Given the description of an element on the screen output the (x, y) to click on. 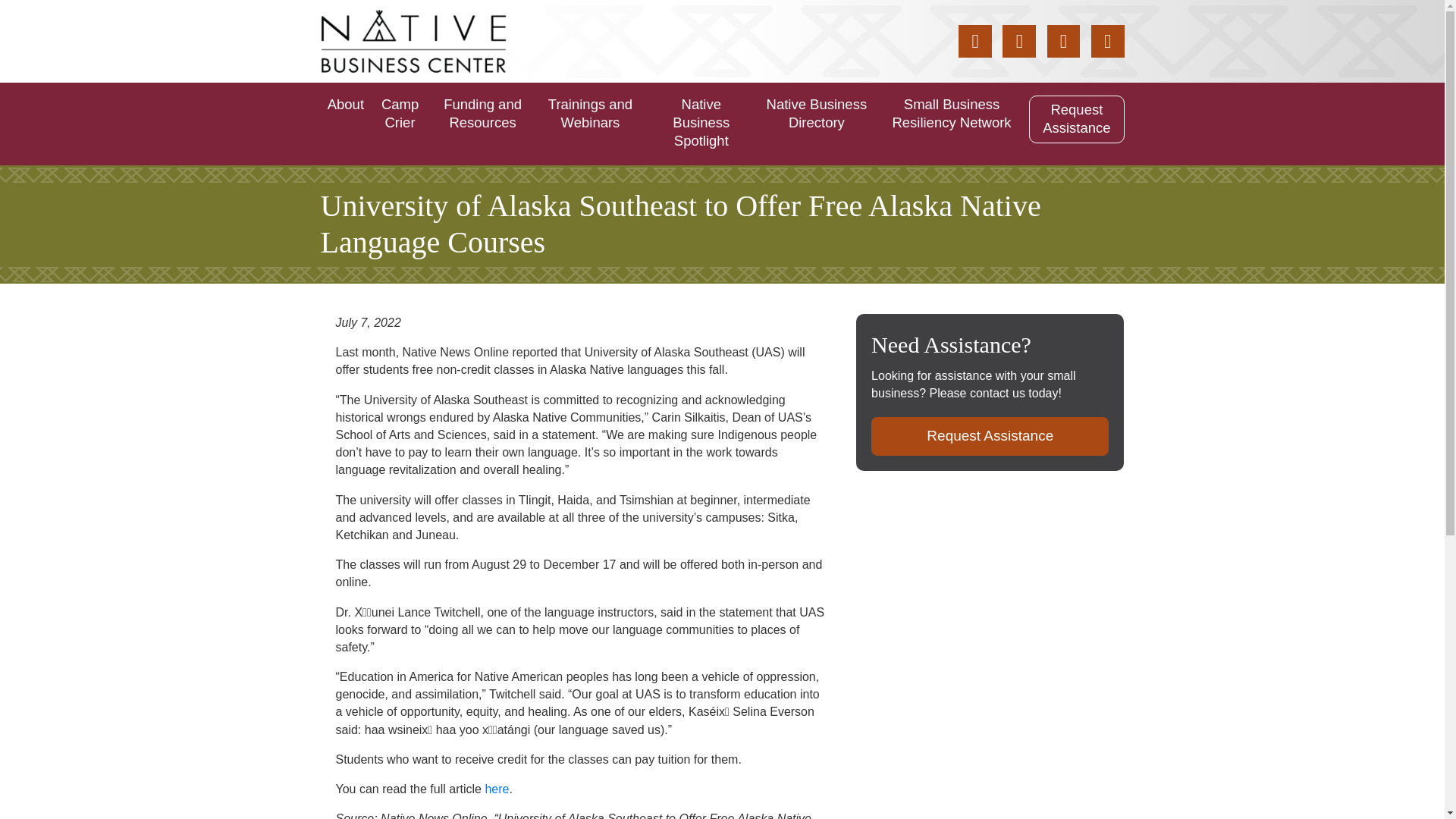
Request Assistance (989, 435)
Native Business Directory (816, 113)
Trainings and Webinars (590, 113)
Funding and Resources (483, 113)
About (345, 104)
Small Business Resiliency Network (952, 113)
home-logo (412, 41)
Native Business Spotlight (701, 122)
here (496, 788)
Request Assistance (1076, 119)
